Given the description of an element on the screen output the (x, y) to click on. 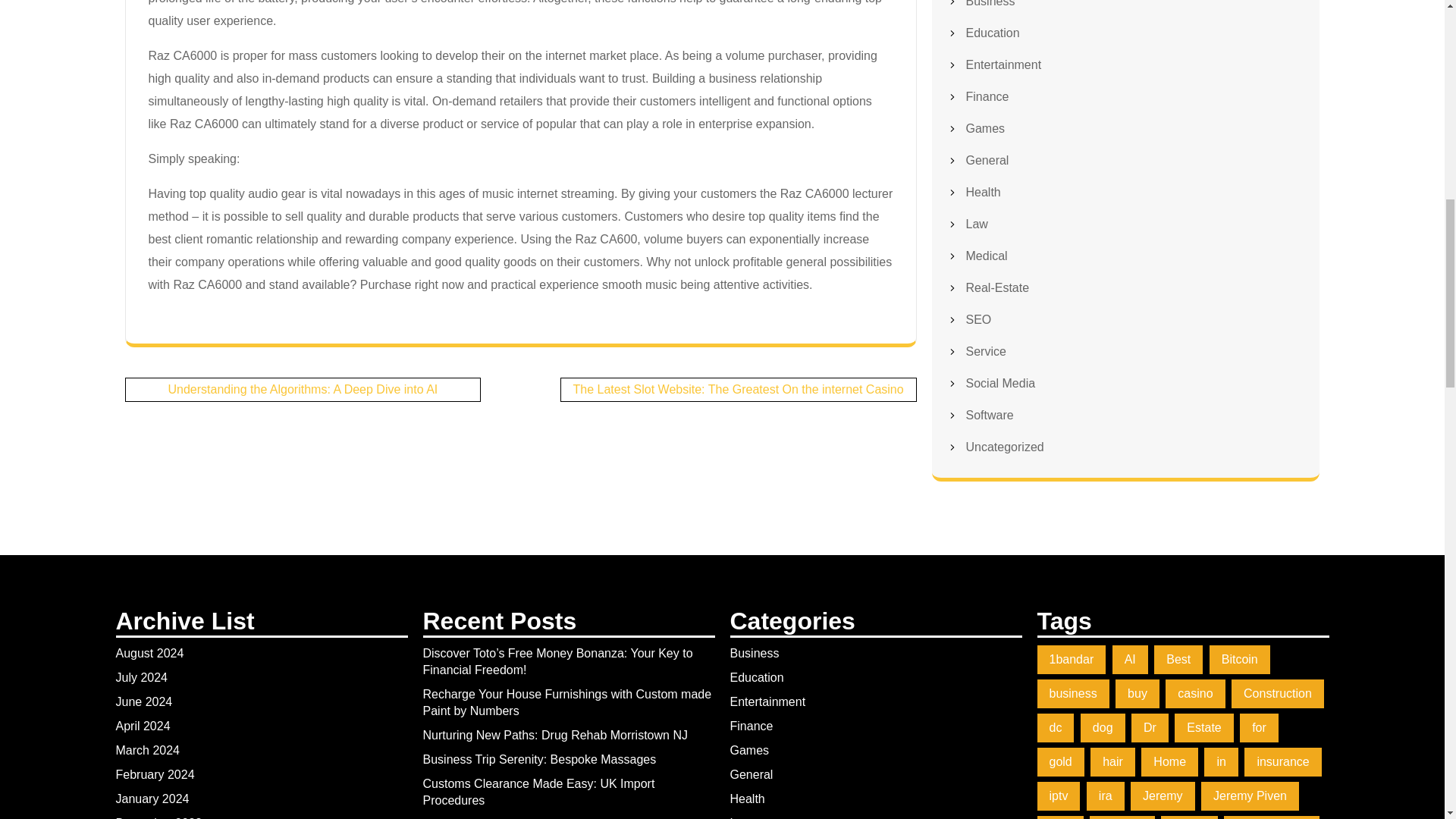
SEO (978, 318)
Entertainment (1004, 64)
Health (983, 192)
Games (986, 128)
General (987, 160)
Social Media (1000, 382)
Understanding the Algorithms: A Deep Dive into AI (303, 389)
Business (990, 3)
Service (986, 350)
The Latest Slot Website: The Greatest On the internet Casino (738, 389)
